Given the description of an element on the screen output the (x, y) to click on. 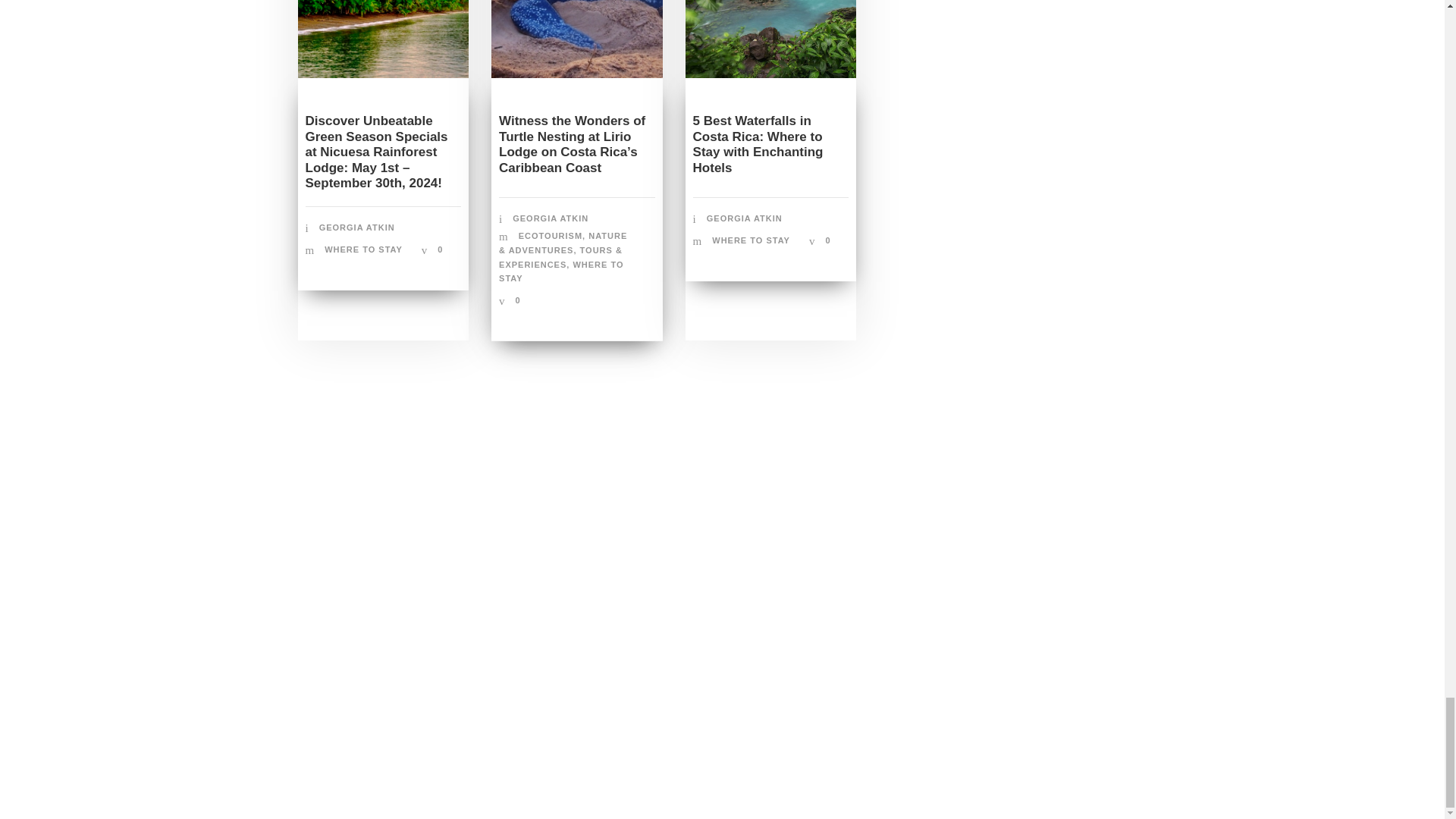
GEORGIA ATKIN (356, 226)
Posts by Georgia Atkin (744, 217)
playa nicuesa rainforest lodge (382, 38)
Posts by Georgia Atkin (550, 217)
Leatherback sea turtle, image by Sea Turtle Conservancy (577, 38)
WHERE TO STAY (363, 248)
Posts by Georgia Atkin (356, 226)
